Given the description of an element on the screen output the (x, y) to click on. 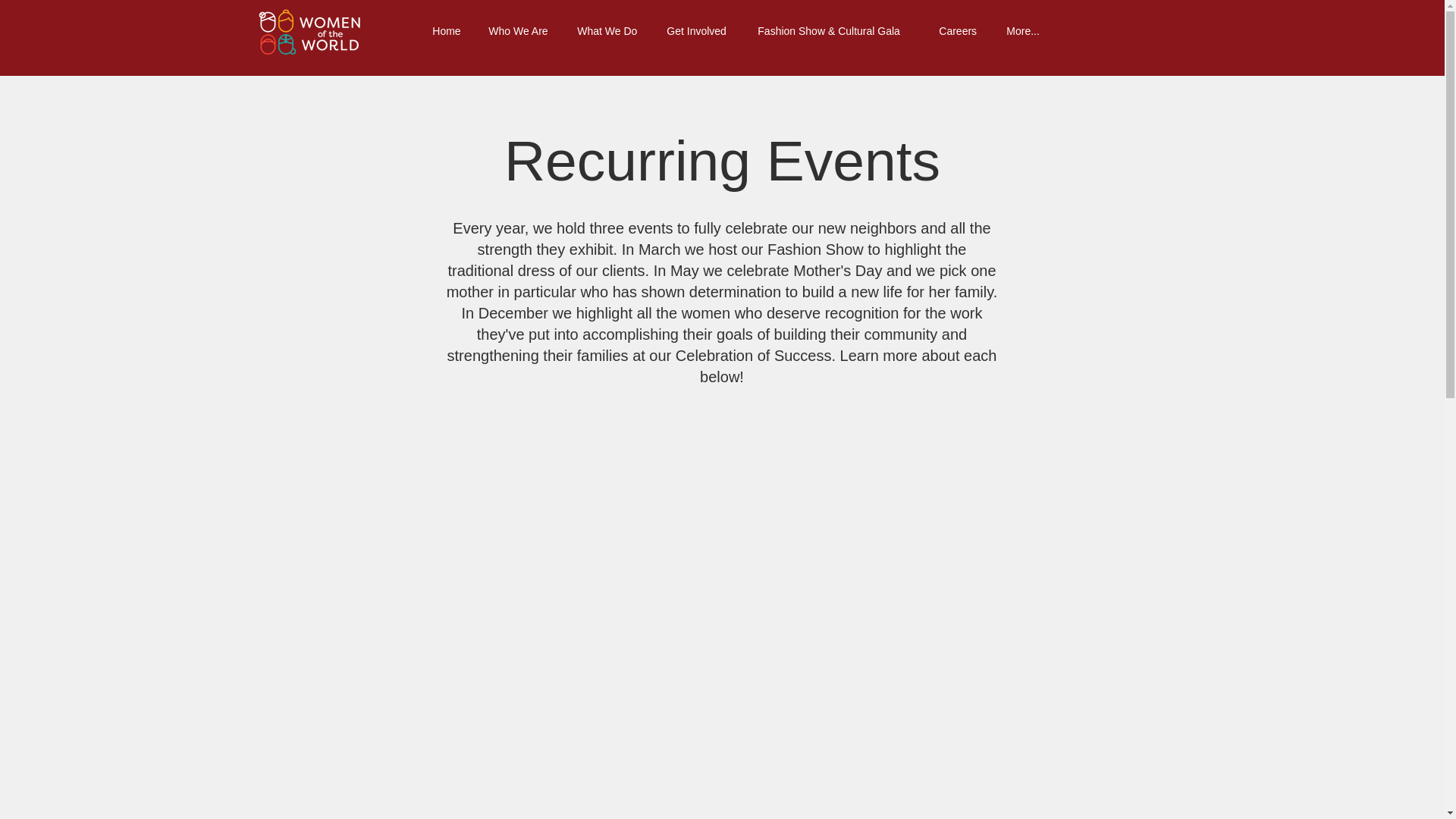
Home (448, 31)
